Given the description of an element on the screen output the (x, y) to click on. 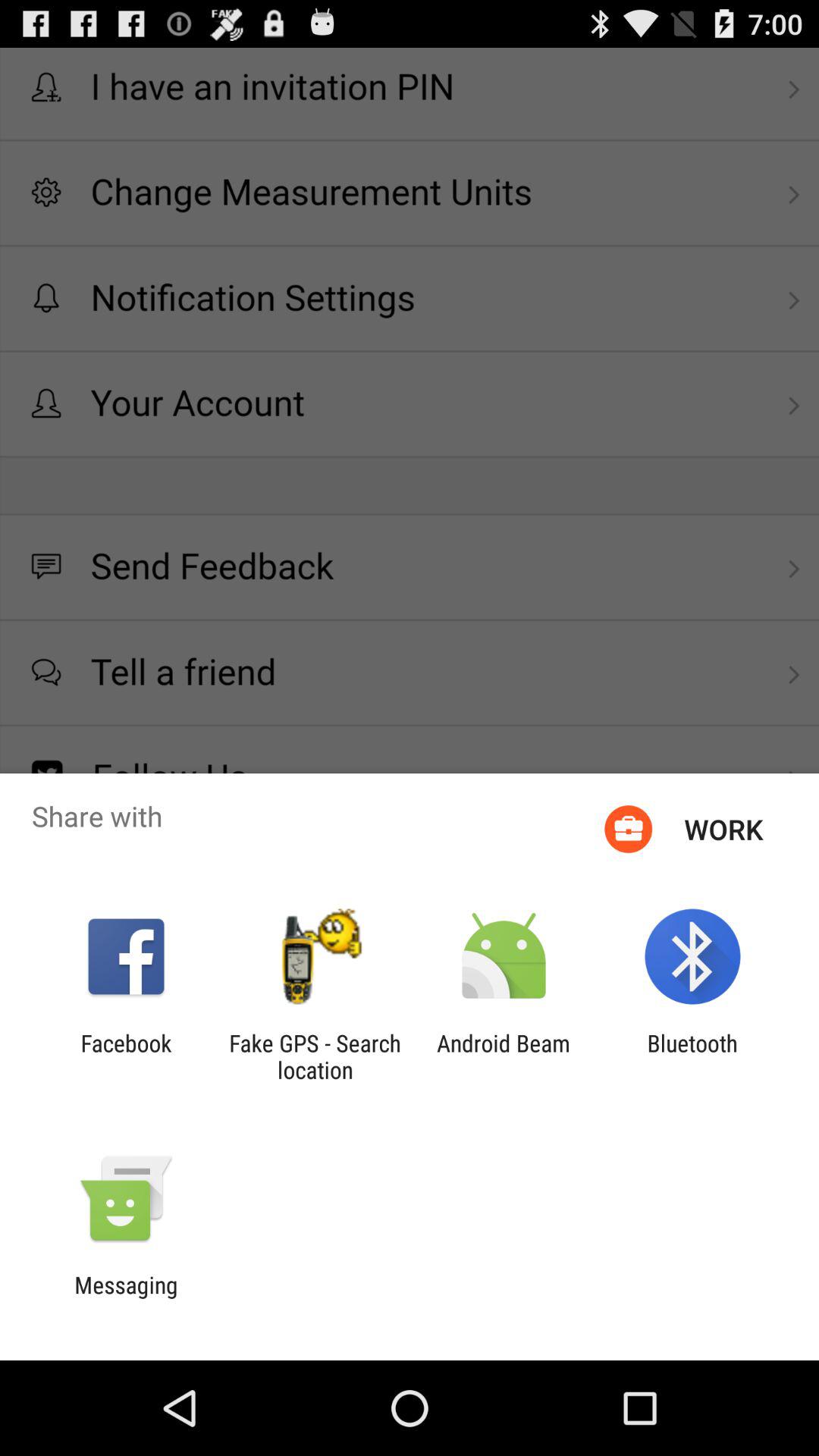
click the facebook (125, 1056)
